Given the description of an element on the screen output the (x, y) to click on. 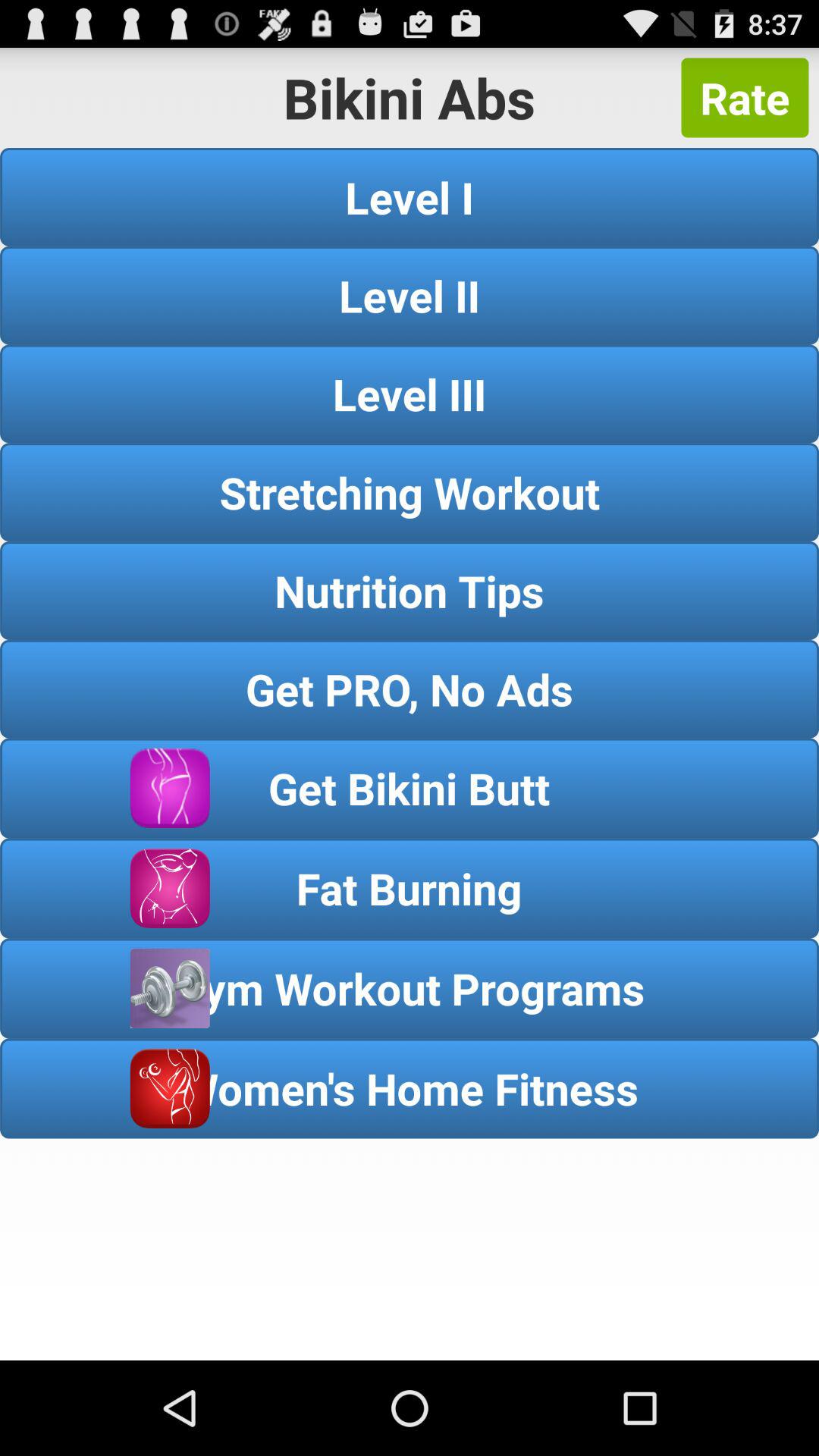
swipe to stretching workout icon (409, 492)
